Given the description of an element on the screen output the (x, y) to click on. 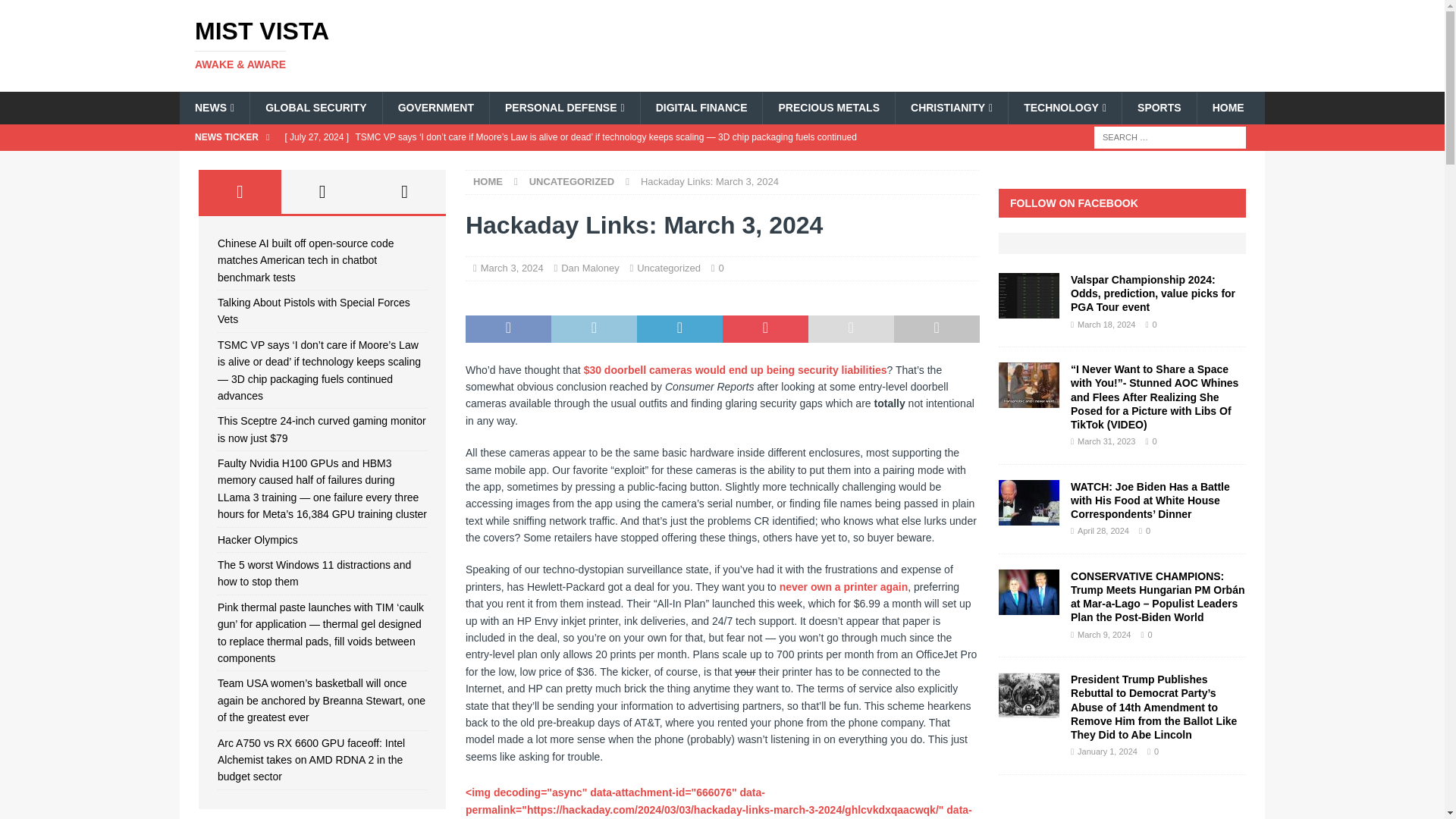
Mist Vista (351, 44)
PERSONAL DEFENSE (564, 107)
Search (56, 11)
CHRISTIANITY (951, 107)
NEWS (213, 107)
GLOBAL SECURITY (314, 107)
Talking About Pistols with Special Forces Vets (581, 136)
GOVERNMENT (435, 107)
PRECIOUS METALS (828, 107)
DIGITAL FINANCE (701, 107)
HOME (1227, 107)
SPORTS (1158, 107)
TECHNOLOGY (1064, 107)
